Given the description of an element on the screen output the (x, y) to click on. 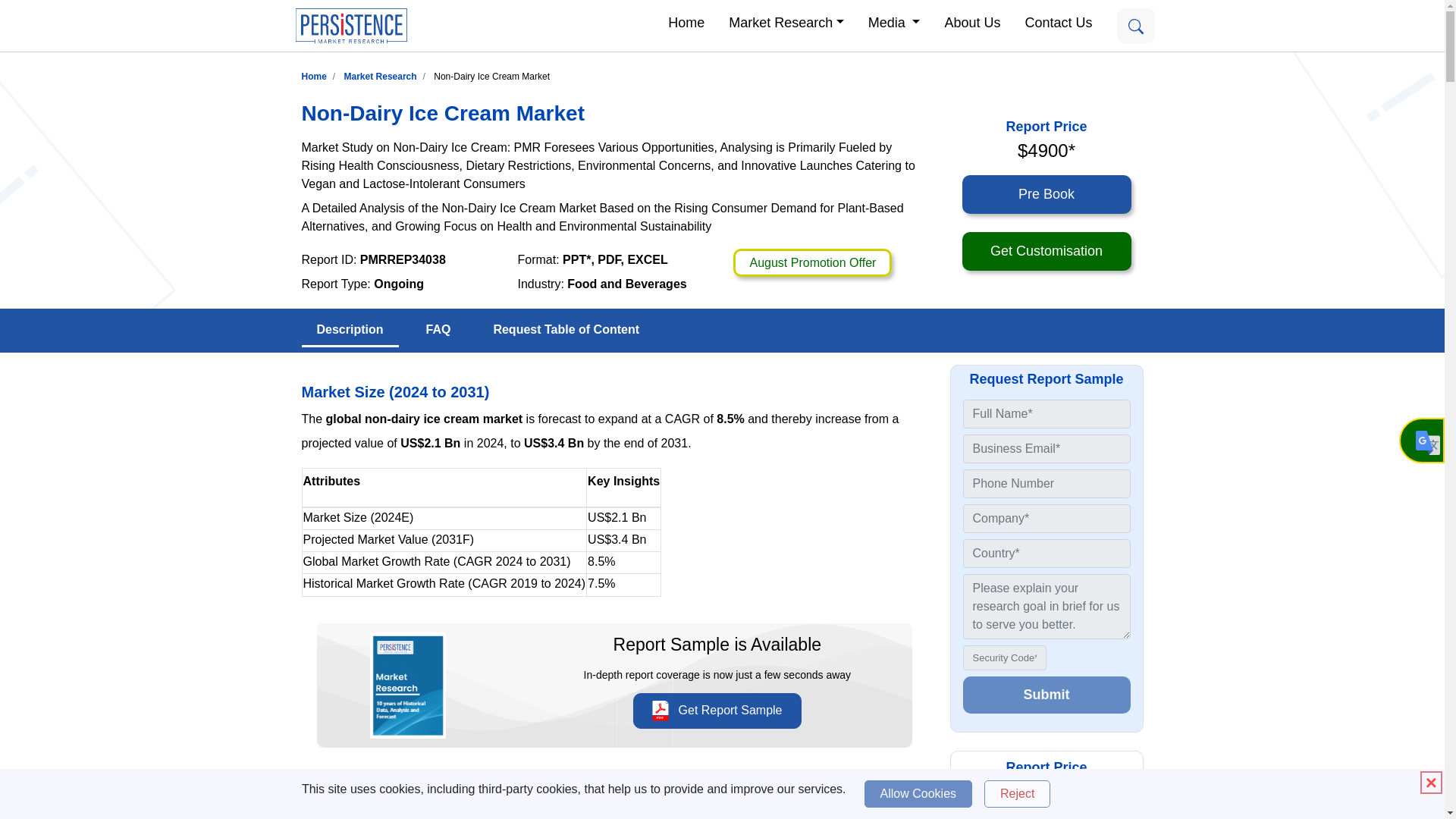
Pre Book (1045, 194)
Request Discount (812, 262)
Search (1135, 25)
Persistence Market Research (379, 76)
About Us (971, 21)
Persistence Market Report (313, 76)
About Us (971, 21)
Home (313, 76)
August Promotion Offer (812, 262)
Market Research (379, 76)
